Given the description of an element on the screen output the (x, y) to click on. 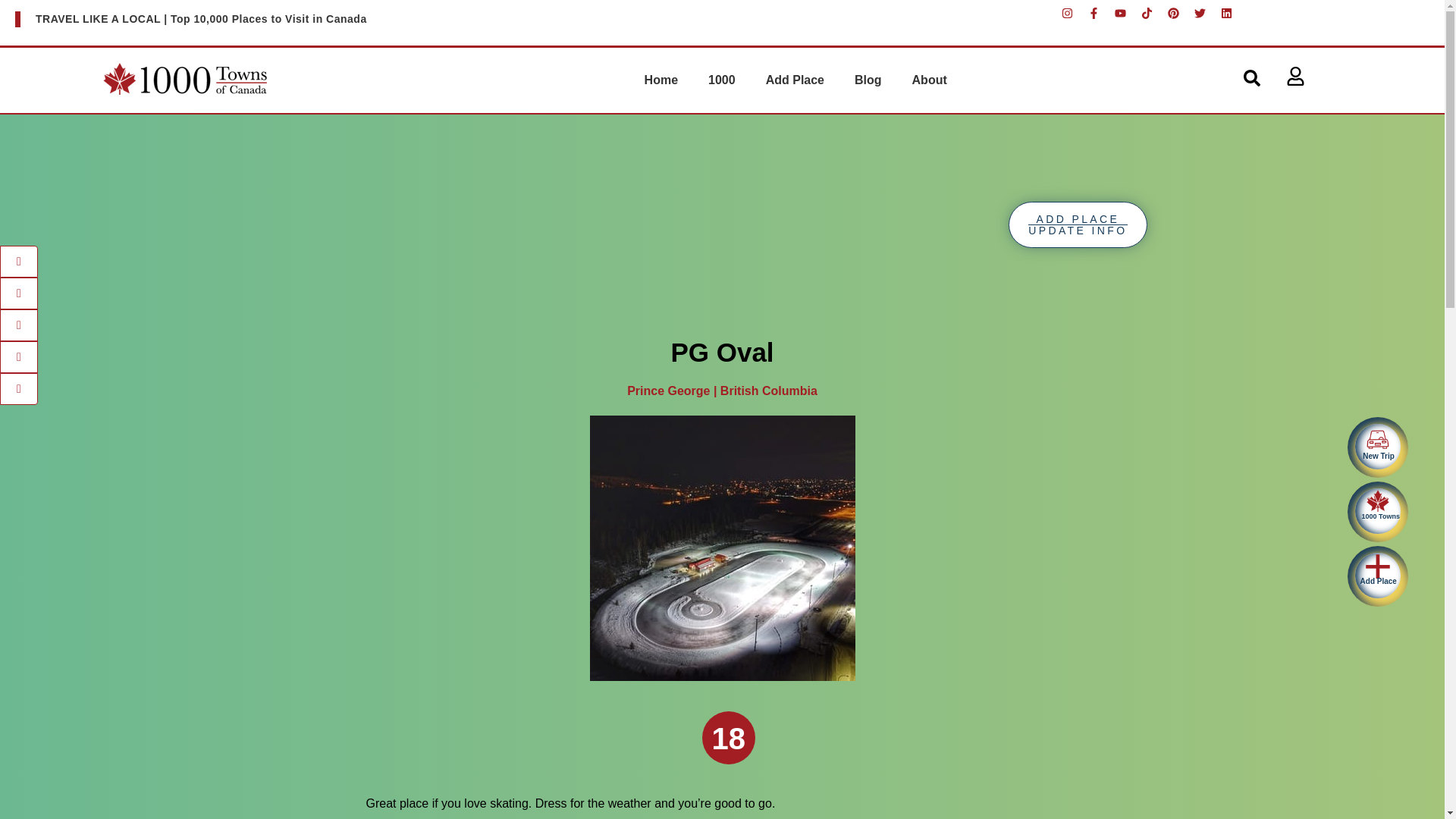
Blog (868, 80)
Add Place (795, 80)
New Trip (1377, 446)
1000 (722, 80)
1000 Towns (1377, 511)
Home (660, 80)
About (929, 80)
